Given the description of an element on the screen output the (x, y) to click on. 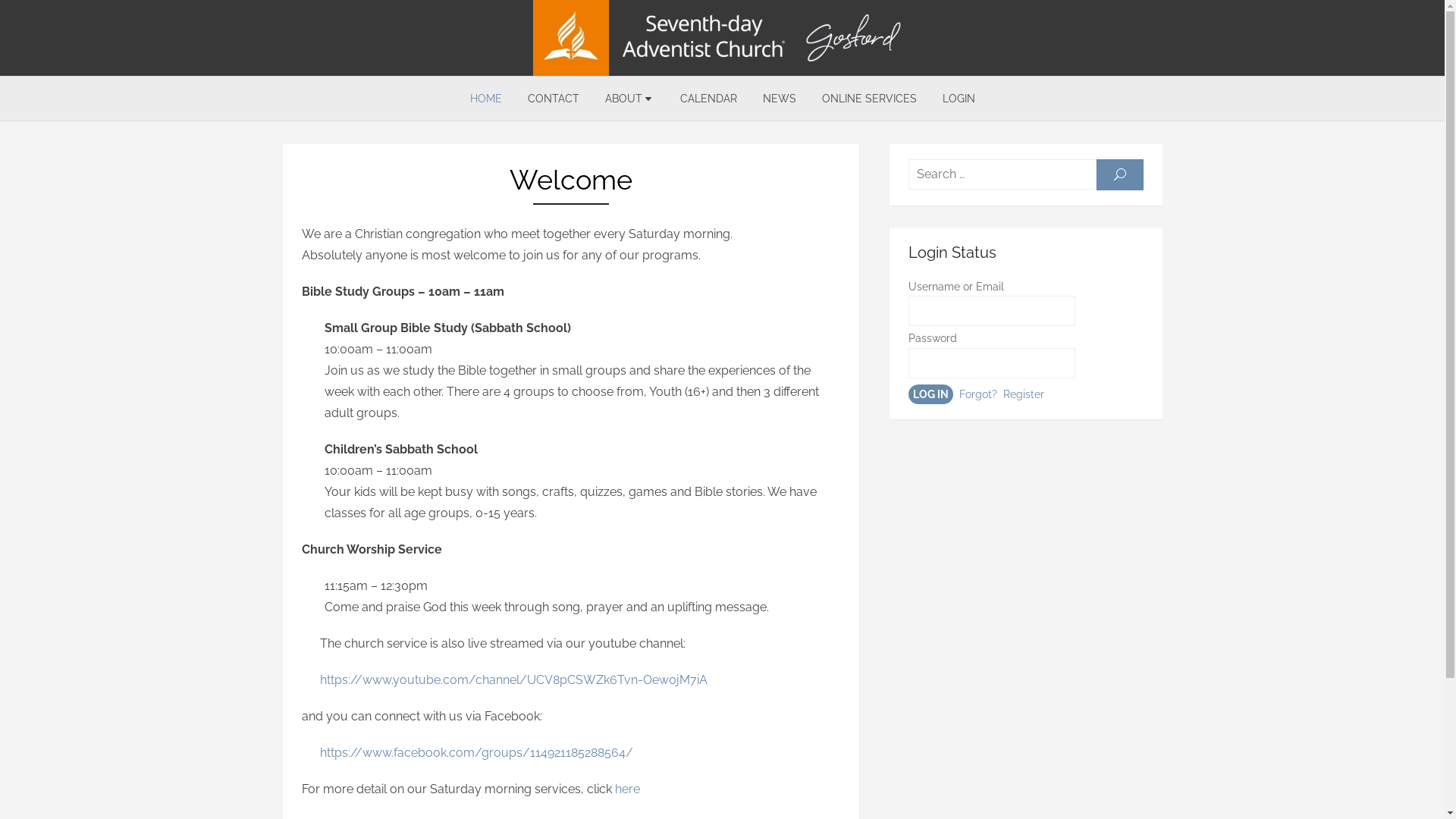
CALENDAR Element type: text (708, 98)
ONLINE SERVICES Element type: text (868, 98)
CONTACT Element type: text (552, 98)
LOGIN Element type: text (958, 98)
log in Element type: text (930, 394)
NEWS Element type: text (778, 98)
SEARCH Element type: text (1119, 174)
here Element type: text (626, 788)
Register Element type: text (1022, 394)
      https://www.facebook.com/groups/114921185288564/ Element type: text (467, 752)
HOME Element type: text (485, 98)
Forgot? Element type: text (977, 394)
ABOUT Element type: text (629, 98)
